Given the description of an element on the screen output the (x, y) to click on. 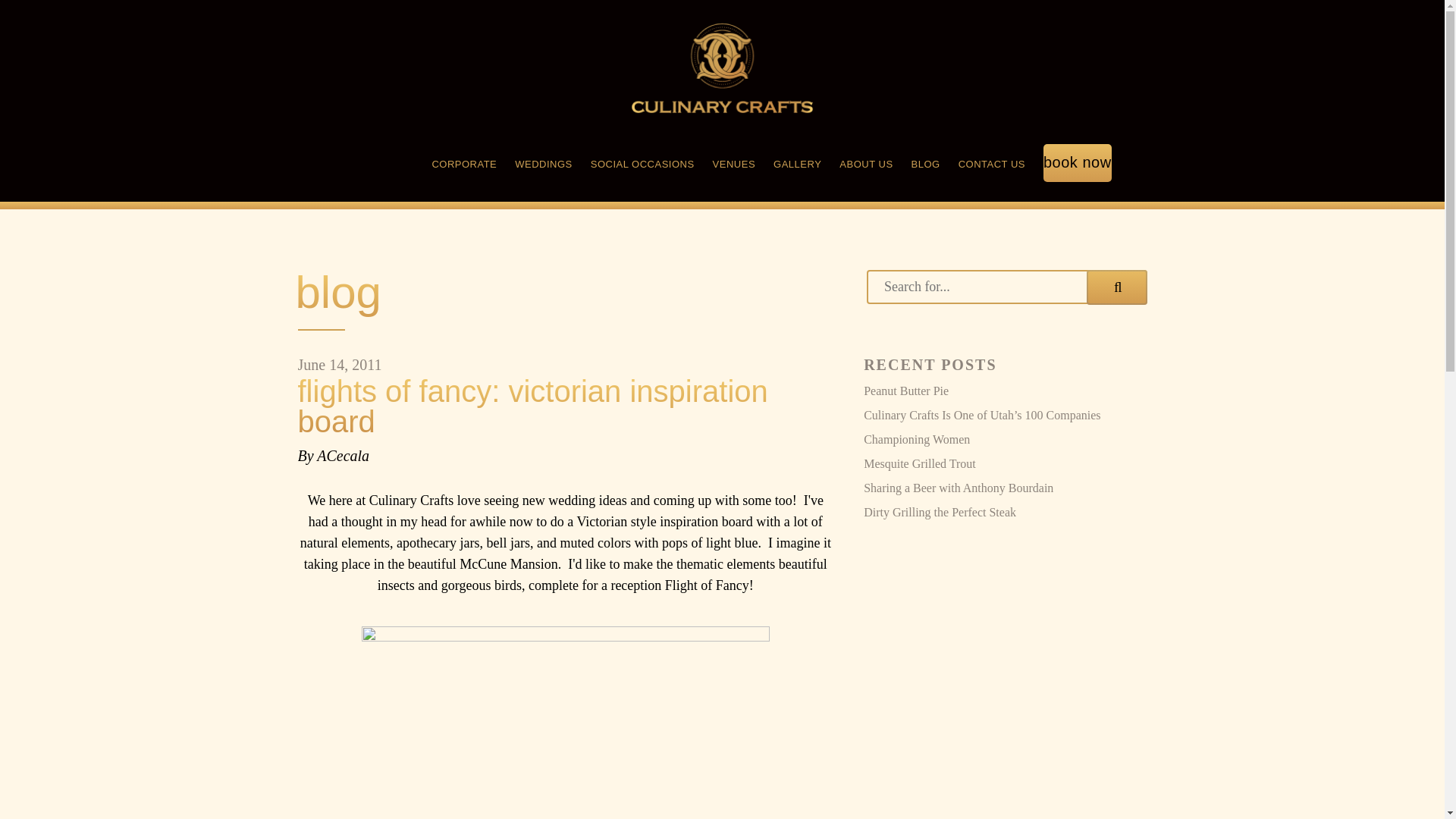
GALLERY (797, 165)
book now (1077, 165)
Search for... (1006, 286)
Posts by ACecala (343, 455)
VictorianIS (565, 722)
VENUES (734, 165)
BLOG (925, 165)
SOCIAL OCCASIONS (642, 165)
CONTACT US (991, 165)
ABOUT US (866, 165)
ACecala (343, 455)
WEDDINGS (543, 165)
